Given the description of an element on the screen output the (x, y) to click on. 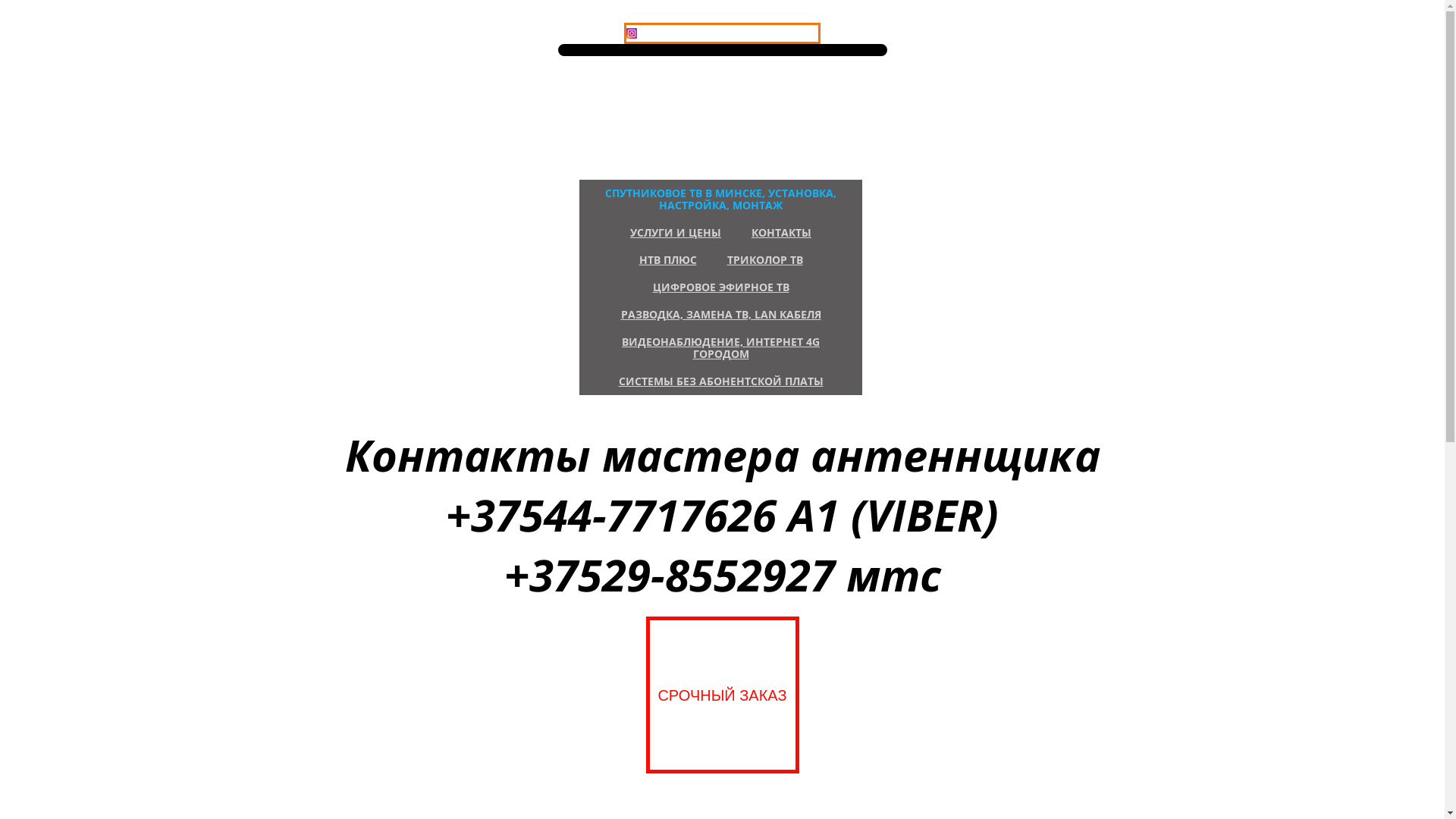
INSTAGRAM Element type: text (722, 32)
